Given the description of an element on the screen output the (x, y) to click on. 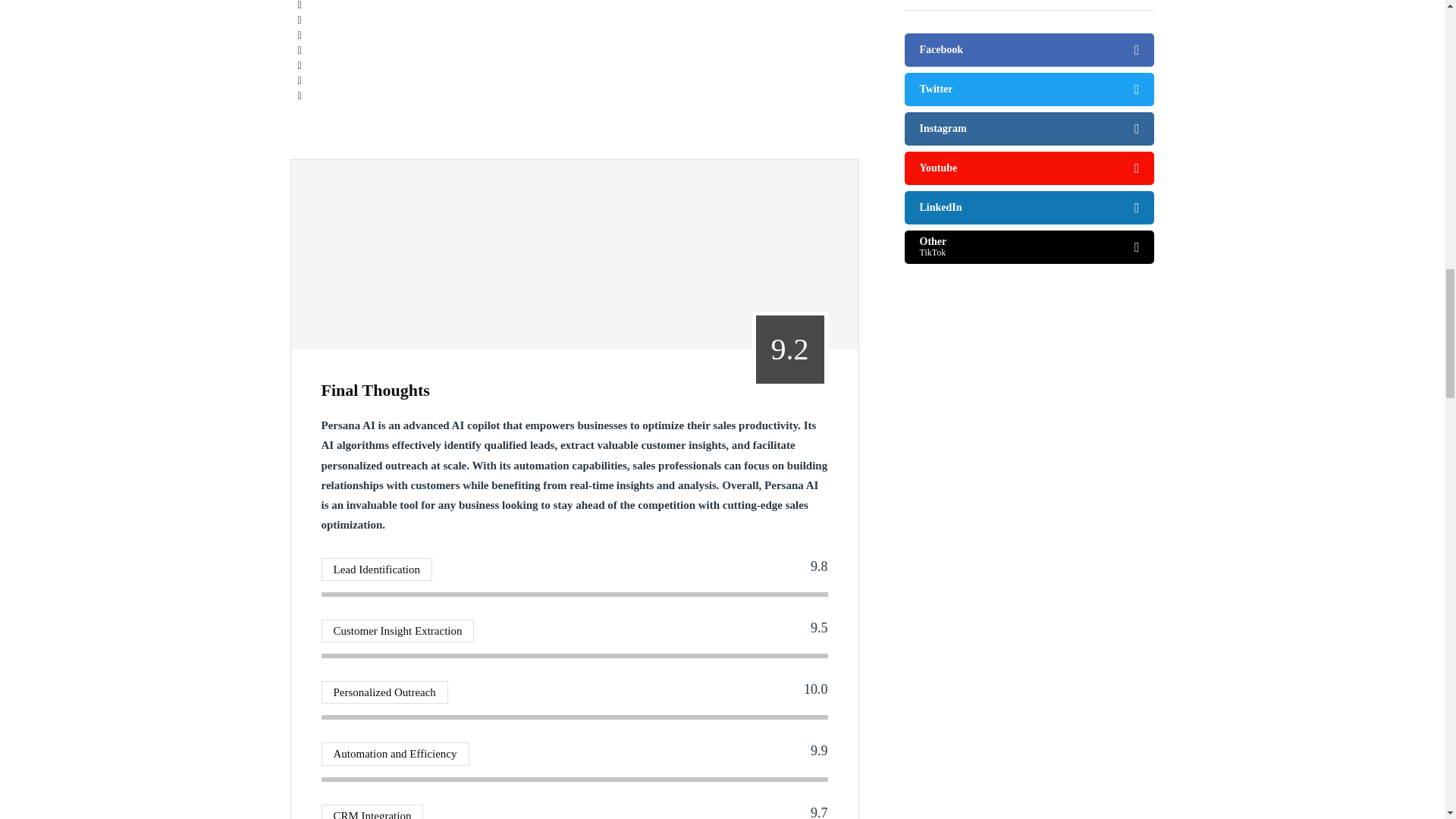
Share to Telegram (298, 65)
Share to WhatsApp (298, 50)
Share with Facebook (298, 6)
Tweet this (298, 20)
Share with LinkedIn (298, 35)
